Given the description of an element on the screen output the (x, y) to click on. 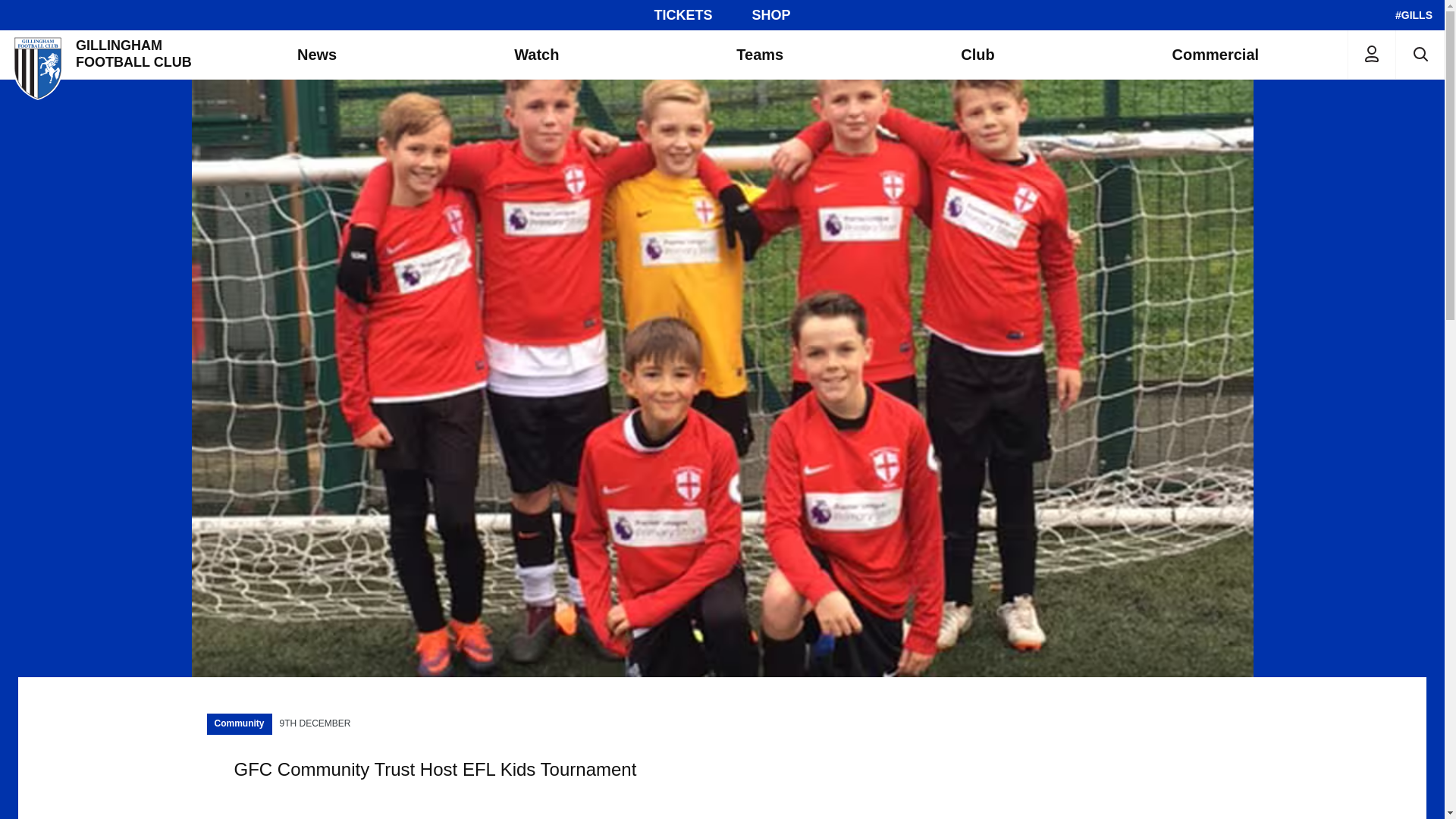
TICKETS (682, 15)
SHOP (771, 15)
Gillingham Football Club (104, 54)
